Given the description of an element on the screen output the (x, y) to click on. 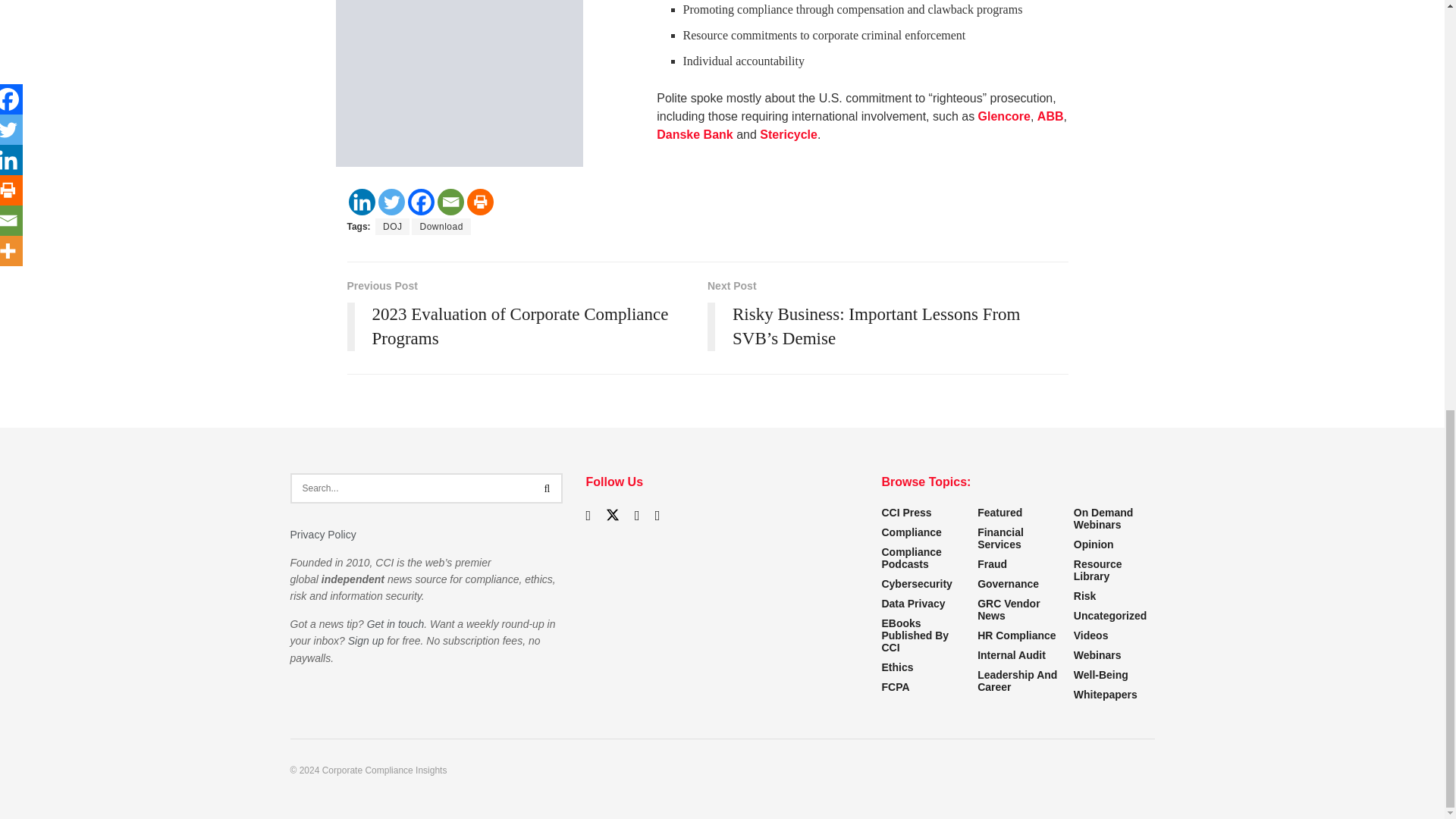
Linkedin (362, 202)
Email (449, 202)
Print (480, 202)
Twitter (390, 202)
Facebook (420, 202)
